Given the description of an element on the screen output the (x, y) to click on. 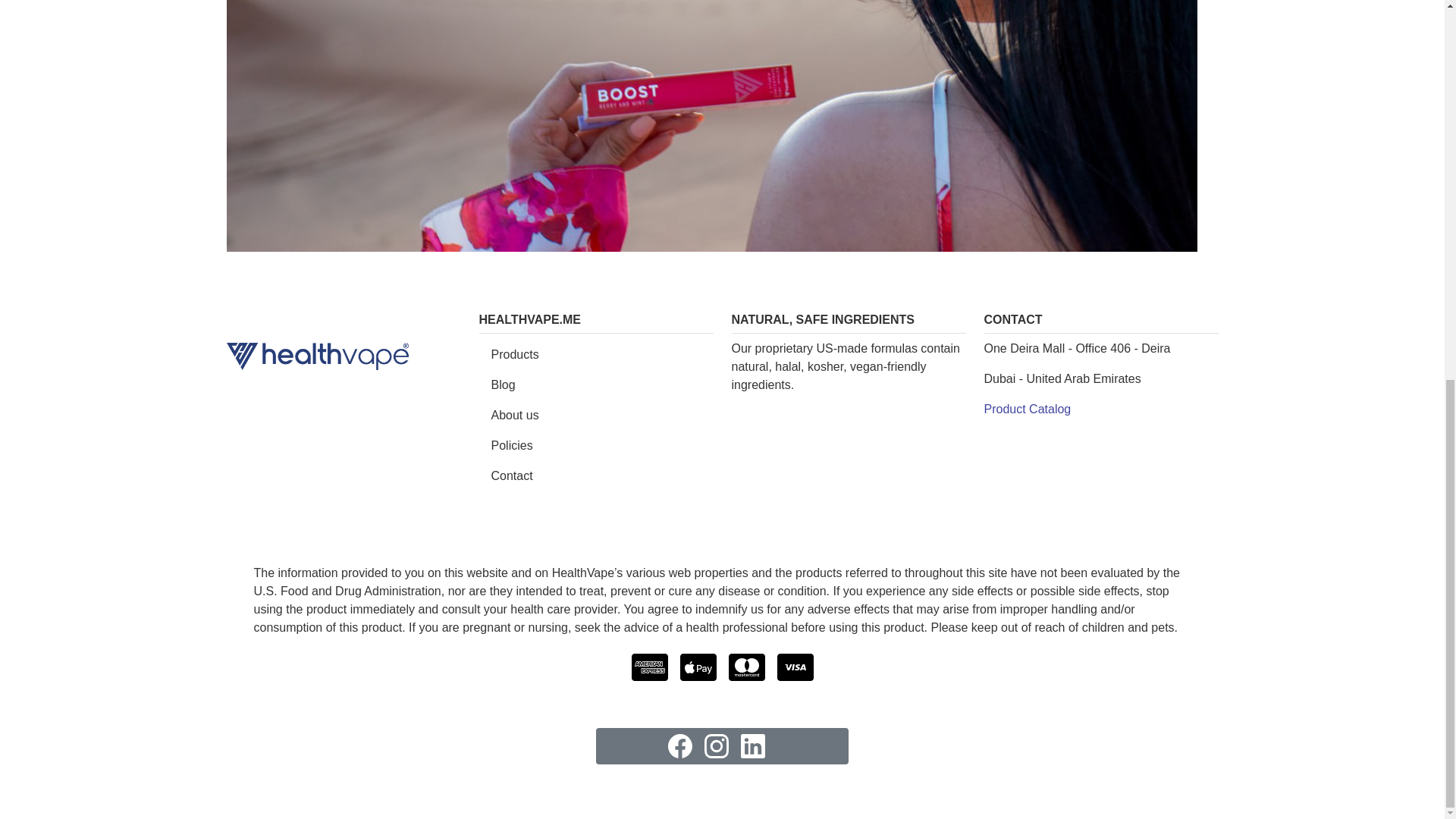
facebook (678, 745)
Products (596, 354)
Contact (596, 476)
instagram (715, 745)
Product Catalog (1027, 408)
Policies (596, 445)
Blog (596, 385)
About us (596, 415)
linkedin (751, 745)
